Given the description of an element on the screen output the (x, y) to click on. 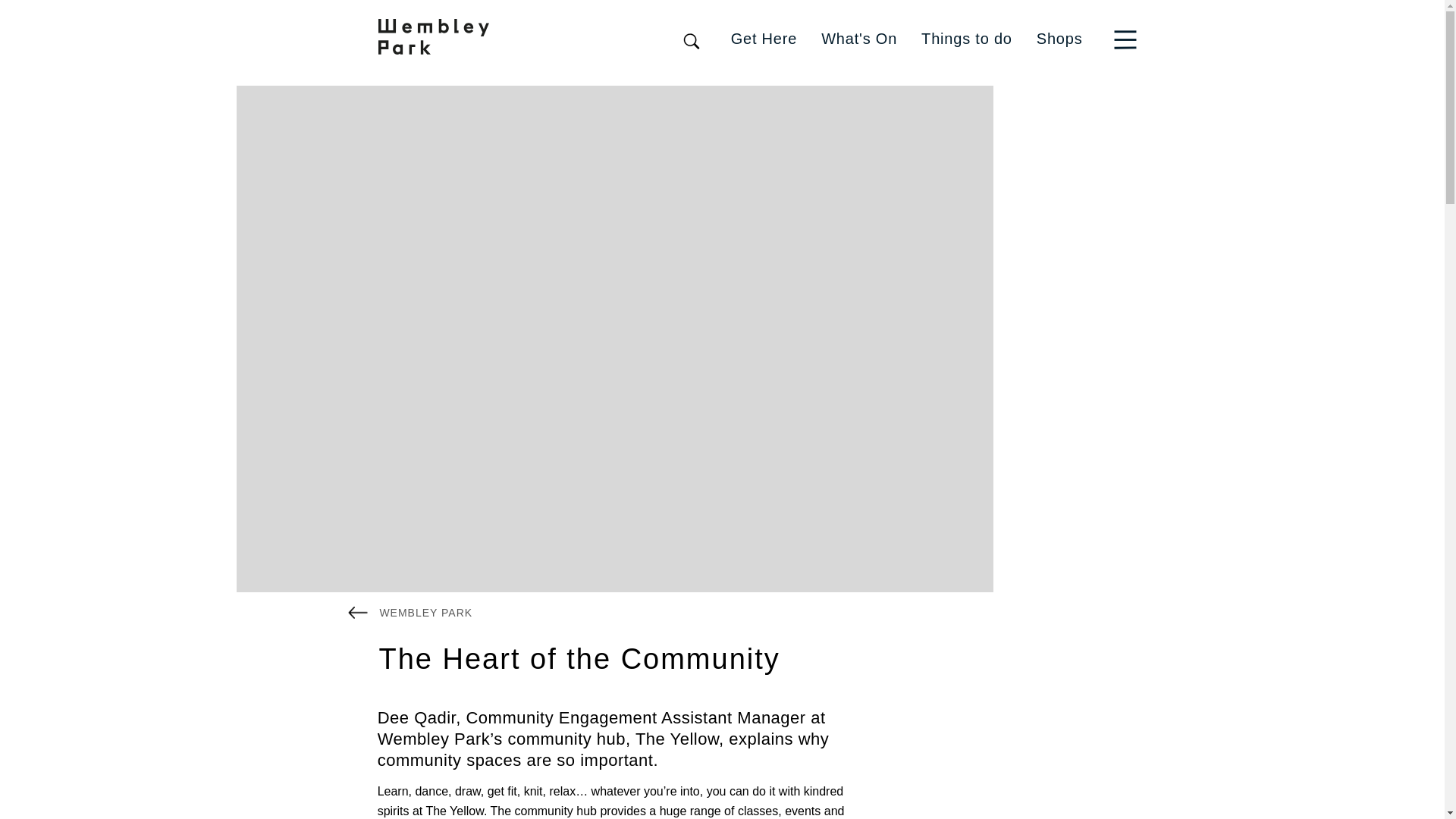
WEMBLEY PARK (409, 611)
Get Here (763, 38)
Things to do (966, 38)
Shops (1059, 38)
Slice 1 Created with Sketch. (1125, 39)
Slice 1 Created with Sketch. (1128, 37)
What's On (858, 38)
